Given the description of an element on the screen output the (x, y) to click on. 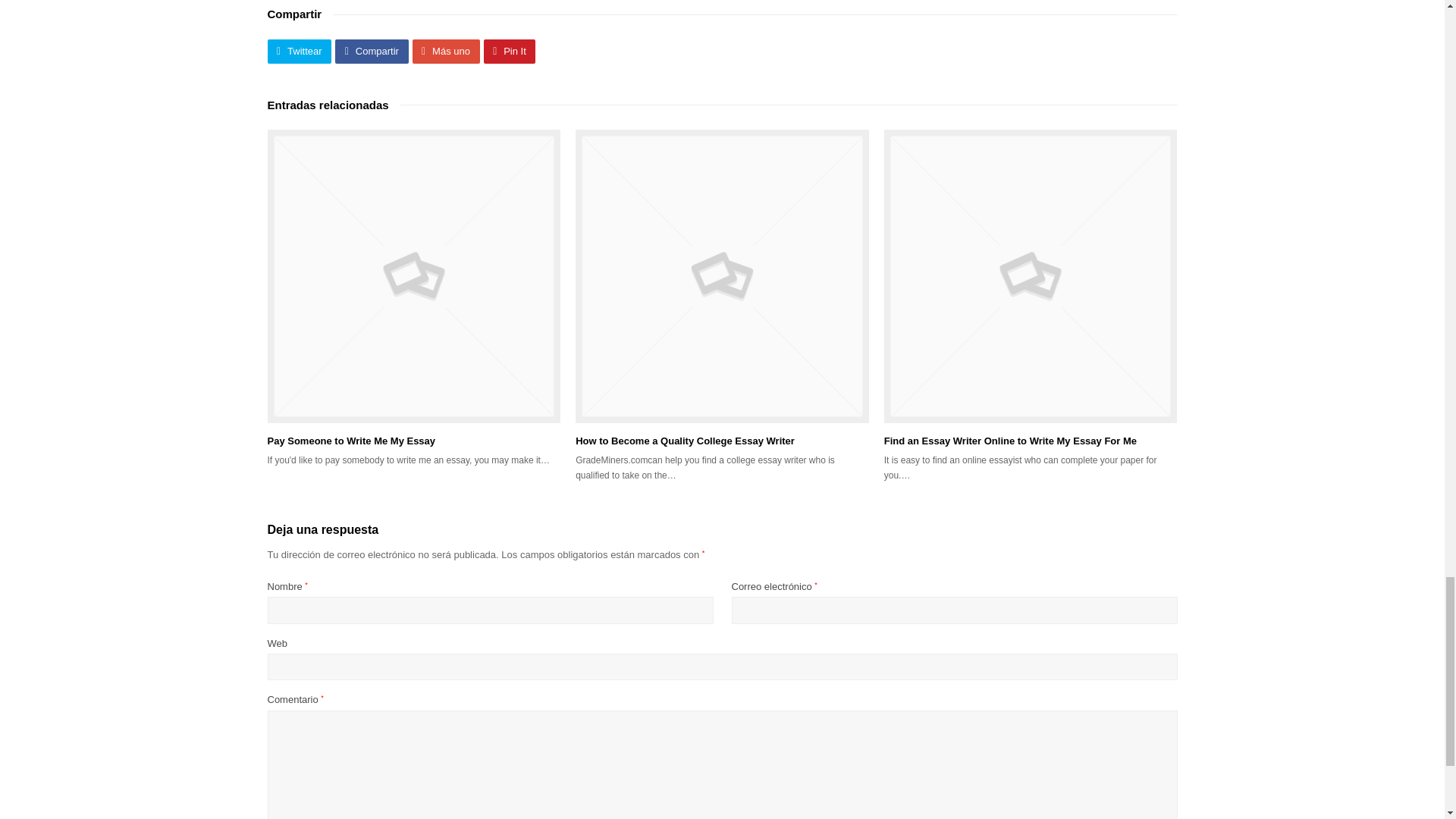
Twittear (298, 51)
Find an Essay Writer Online to Write My Essay For Me (1030, 276)
Compartir en Facebook (370, 51)
Pay Someone to Write Me My Essay (413, 276)
Pay Someone to Write Me My Essay (350, 440)
Pin It (509, 51)
Compartir (370, 51)
How to Become a Quality College Essay Writer (722, 276)
How to Become a Quality College Essay Writer (684, 440)
Compartir en Twitter (298, 51)
